Given the description of an element on the screen output the (x, y) to click on. 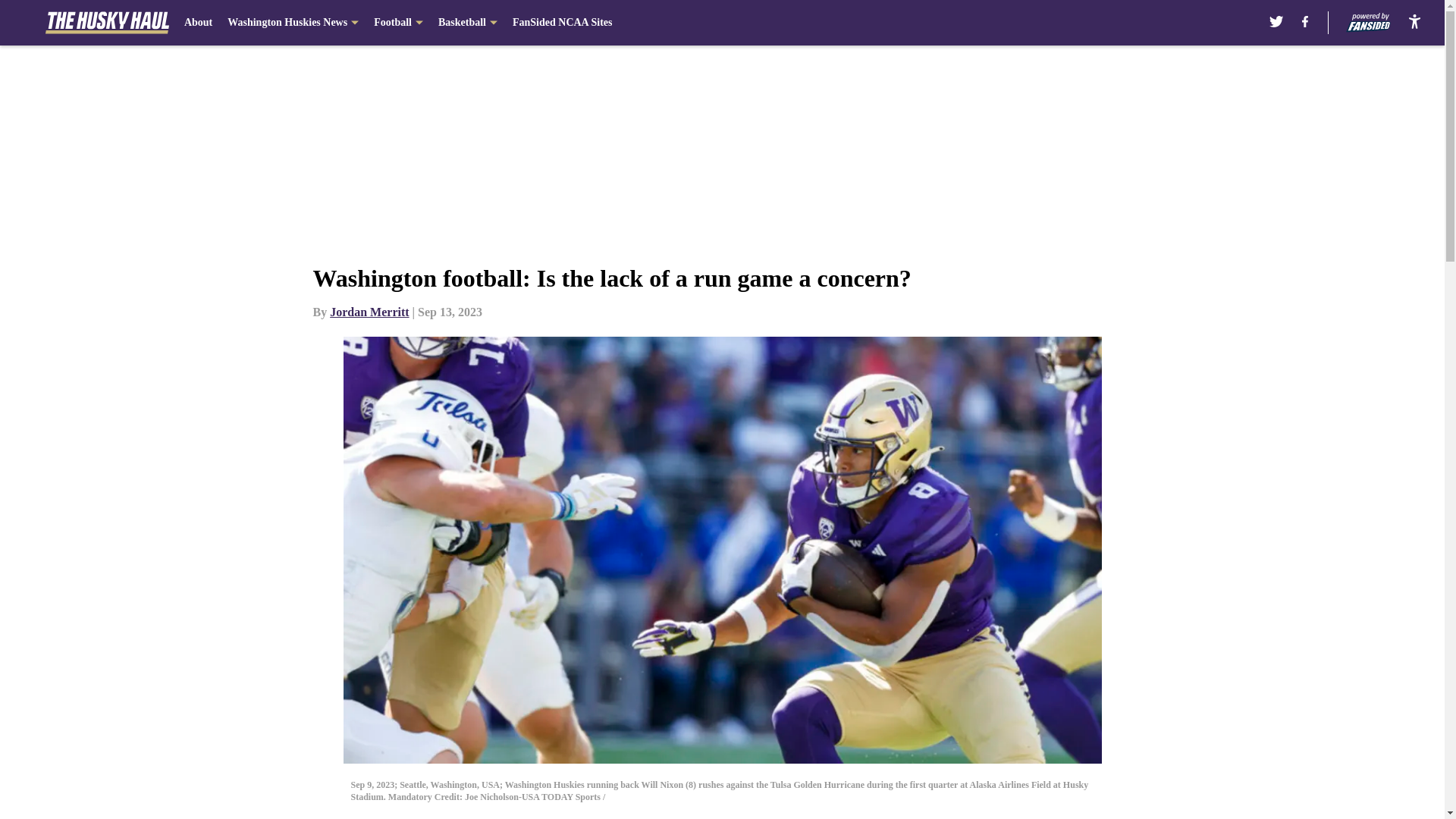
About (198, 22)
Jordan Merritt (369, 311)
FanSided NCAA Sites (561, 22)
